Given the description of an element on the screen output the (x, y) to click on. 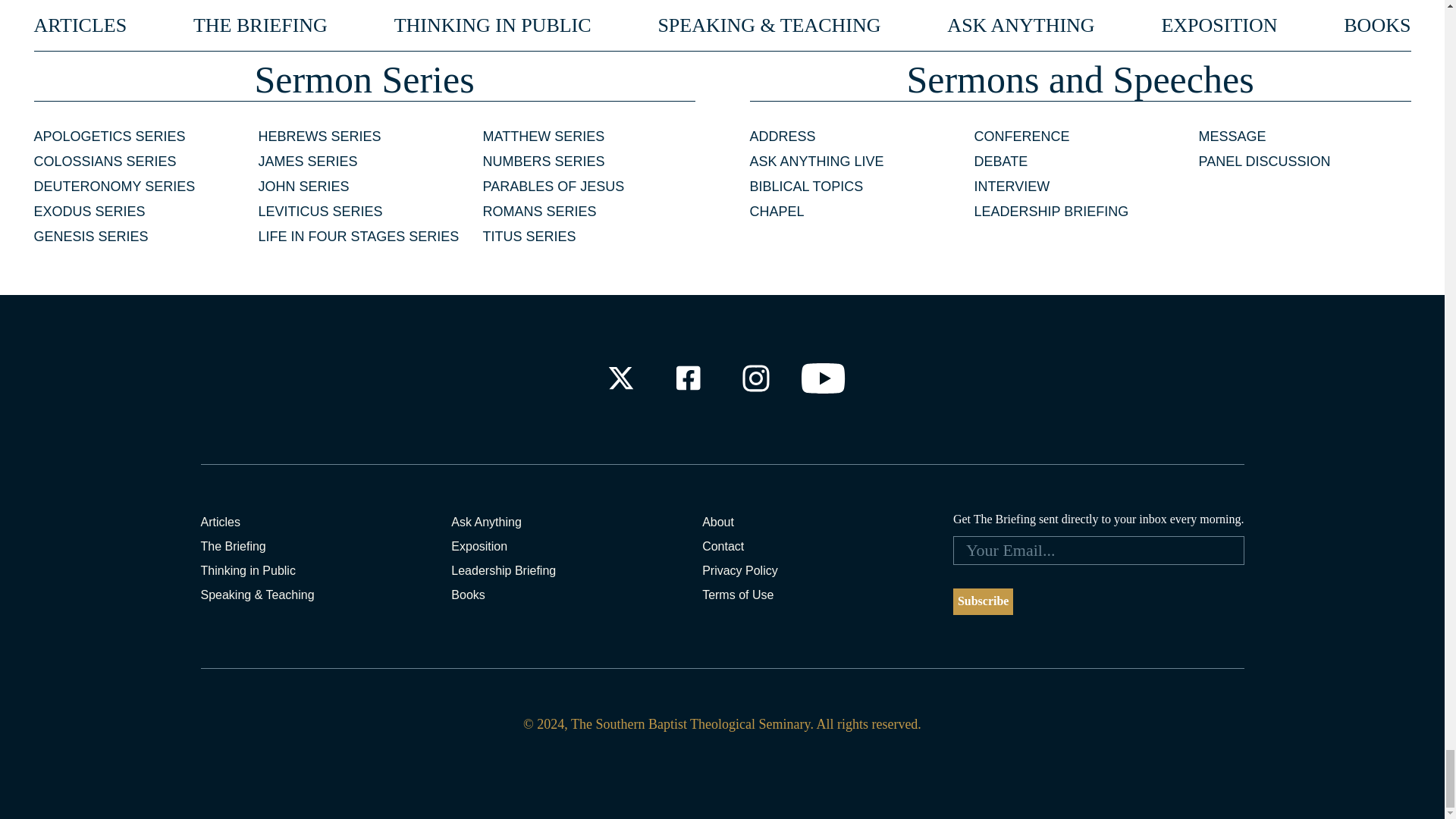
Check out our Instagram Profile (755, 377)
Check out our Youtube Channel (822, 377)
Check out our X Profile (620, 377)
Subscribe (983, 601)
Check out our Facebook Profile (687, 377)
